Given the description of an element on the screen output the (x, y) to click on. 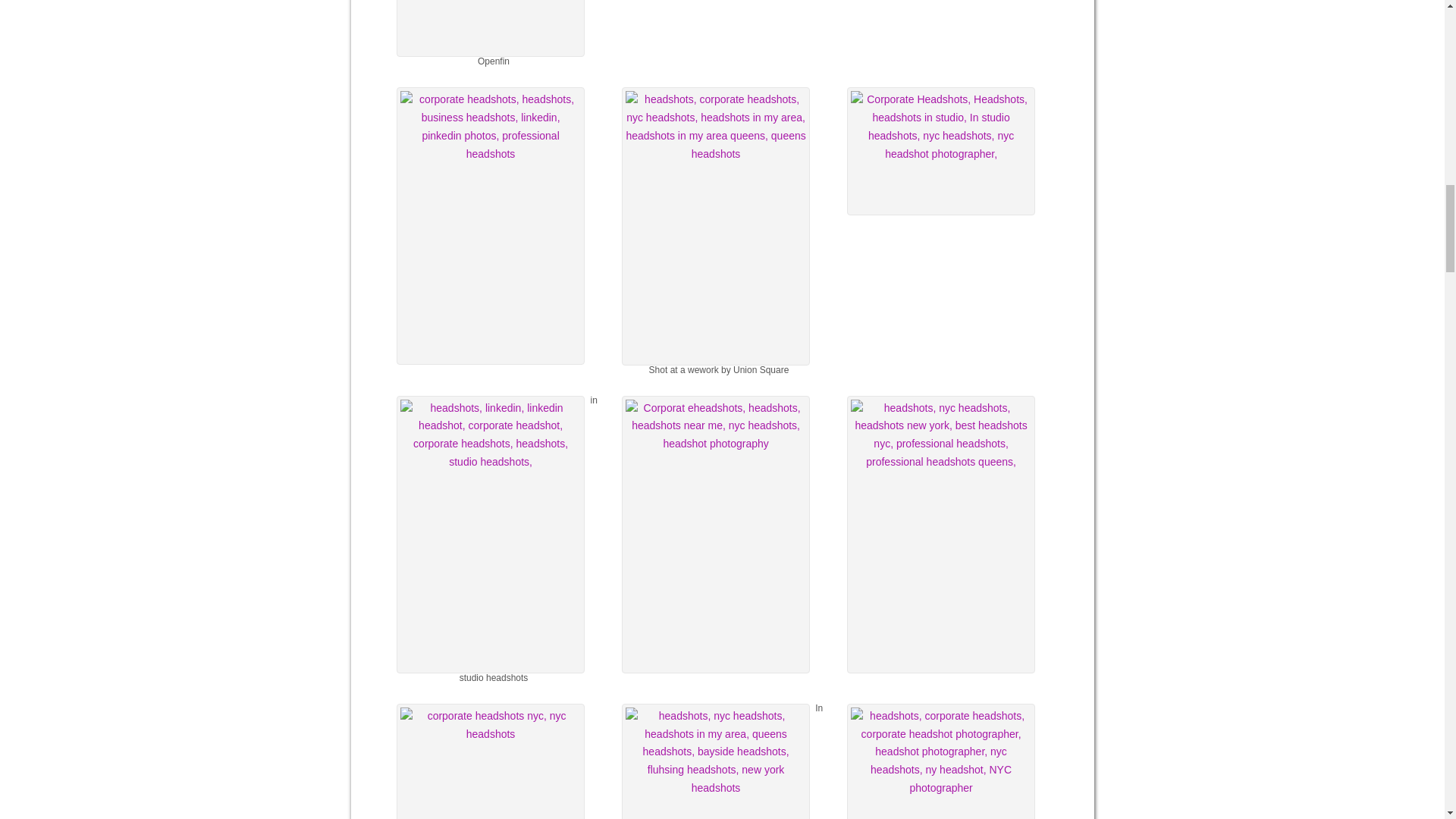
Alexandra Openfin (490, 28)
